Given the description of an element on the screen output the (x, y) to click on. 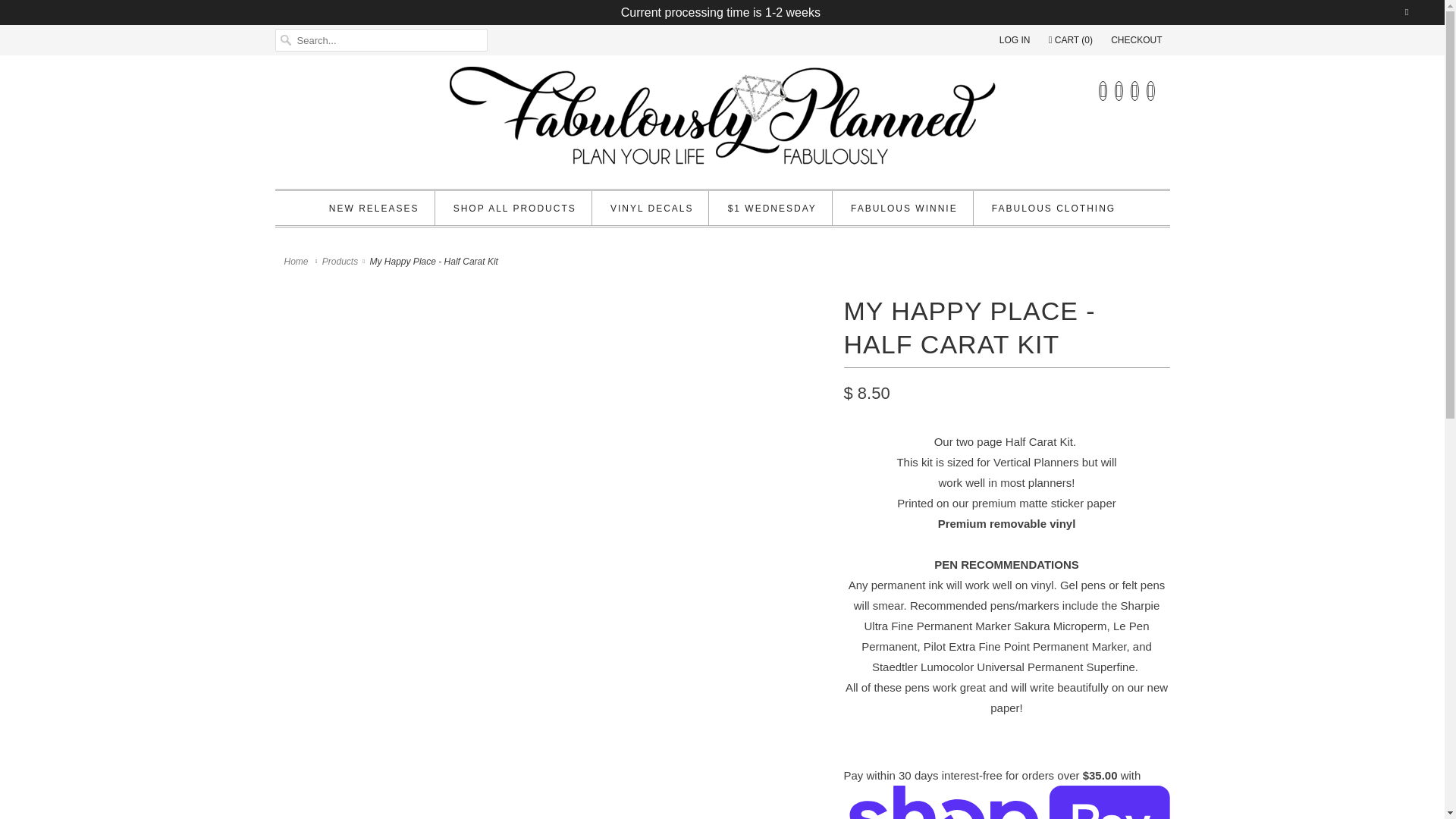
CHECKOUT (1135, 39)
Fabulously Planned (296, 261)
My Happy Place - Half Carat Kit (551, 300)
VINYL DECALS (652, 209)
FABULOUS CLOTHING (1053, 209)
FABULOUS WINNIE (904, 209)
Fabulously Planned (722, 119)
Products (339, 261)
Products (339, 261)
LOG IN (1014, 39)
SHOP ALL PRODUCTS (514, 209)
NEW RELEASES (374, 209)
Home (296, 261)
